Given the description of an element on the screen output the (x, y) to click on. 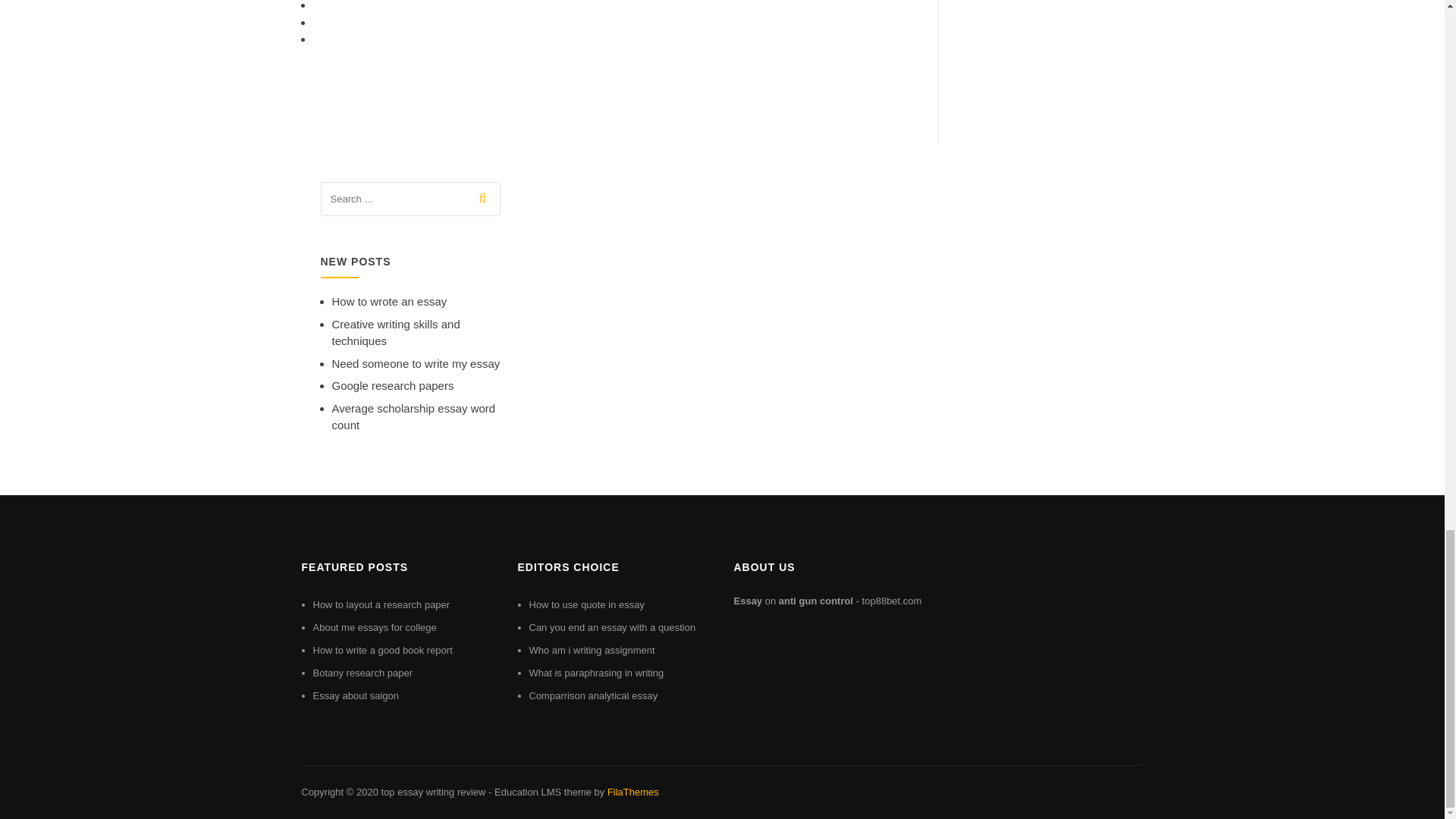
What is paraphrasing in writing (596, 672)
top essay writing review (432, 791)
Botany research paper (362, 672)
How to wrote an essay (388, 300)
How to write a good book report (382, 650)
Google research papers (392, 385)
Average scholarship essay word count (413, 417)
How to layout a research paper (381, 604)
Can you end an essay with a question (612, 627)
top essay writing review (432, 791)
Creative writing skills and techniques (395, 332)
Need someone to write my essay (415, 363)
Essay about saigon (355, 695)
Who am i writing assignment (592, 650)
Comparrison analytical essay (593, 695)
